Given the description of an element on the screen output the (x, y) to click on. 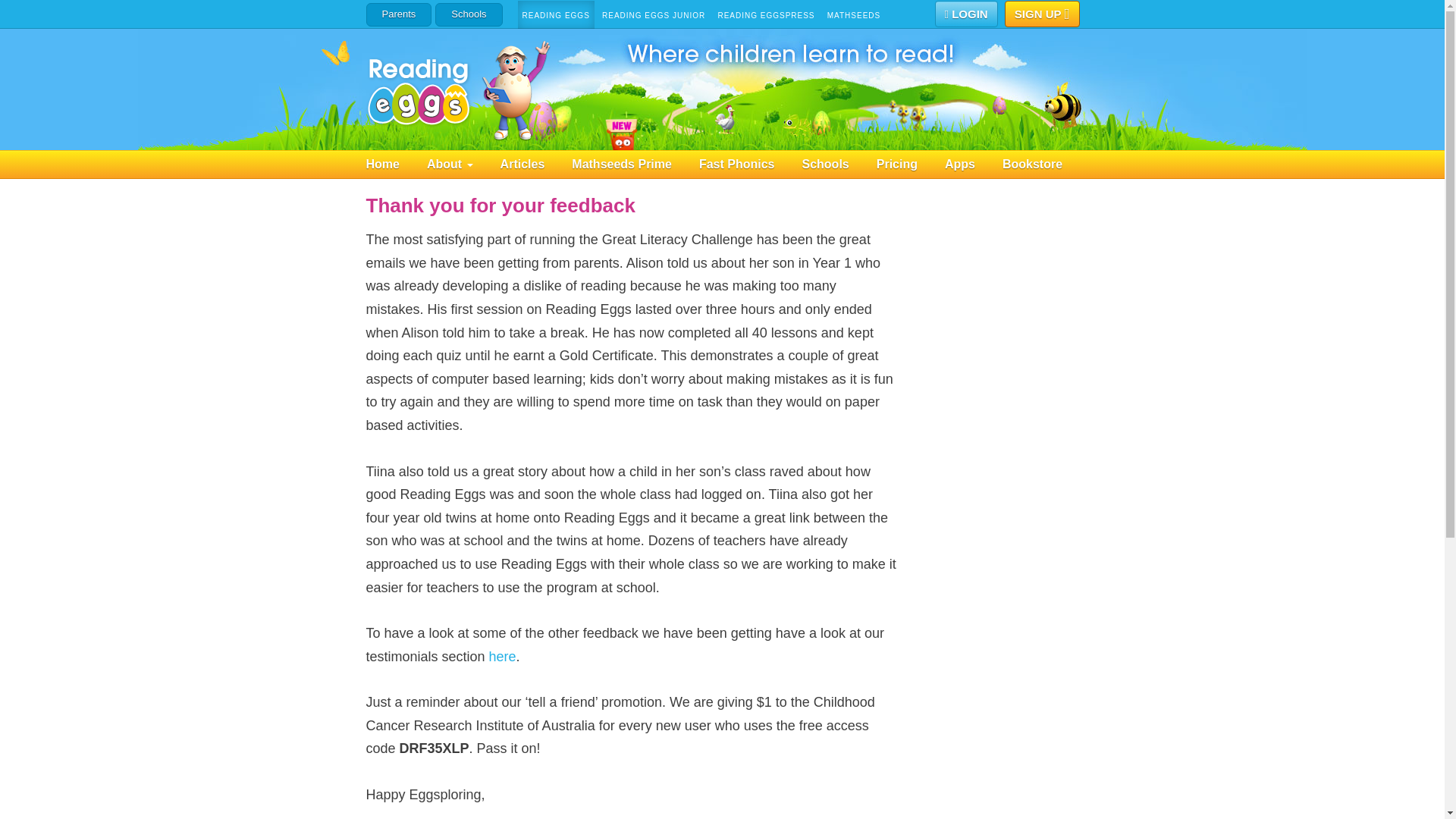
Schools (839, 164)
About (463, 164)
Parents (397, 14)
Articles (536, 164)
READING EGGSPRESS (765, 15)
LOGIN (965, 13)
Mathseeds Prime (635, 164)
Home (395, 164)
Pricing (910, 164)
Fast Phonics (750, 164)
SIGN UP (1042, 13)
Schools (468, 14)
READING EGGS JUNIOR (653, 15)
MATHSEEDS (853, 15)
READING EGGS (556, 15)
